Given the description of an element on the screen output the (x, y) to click on. 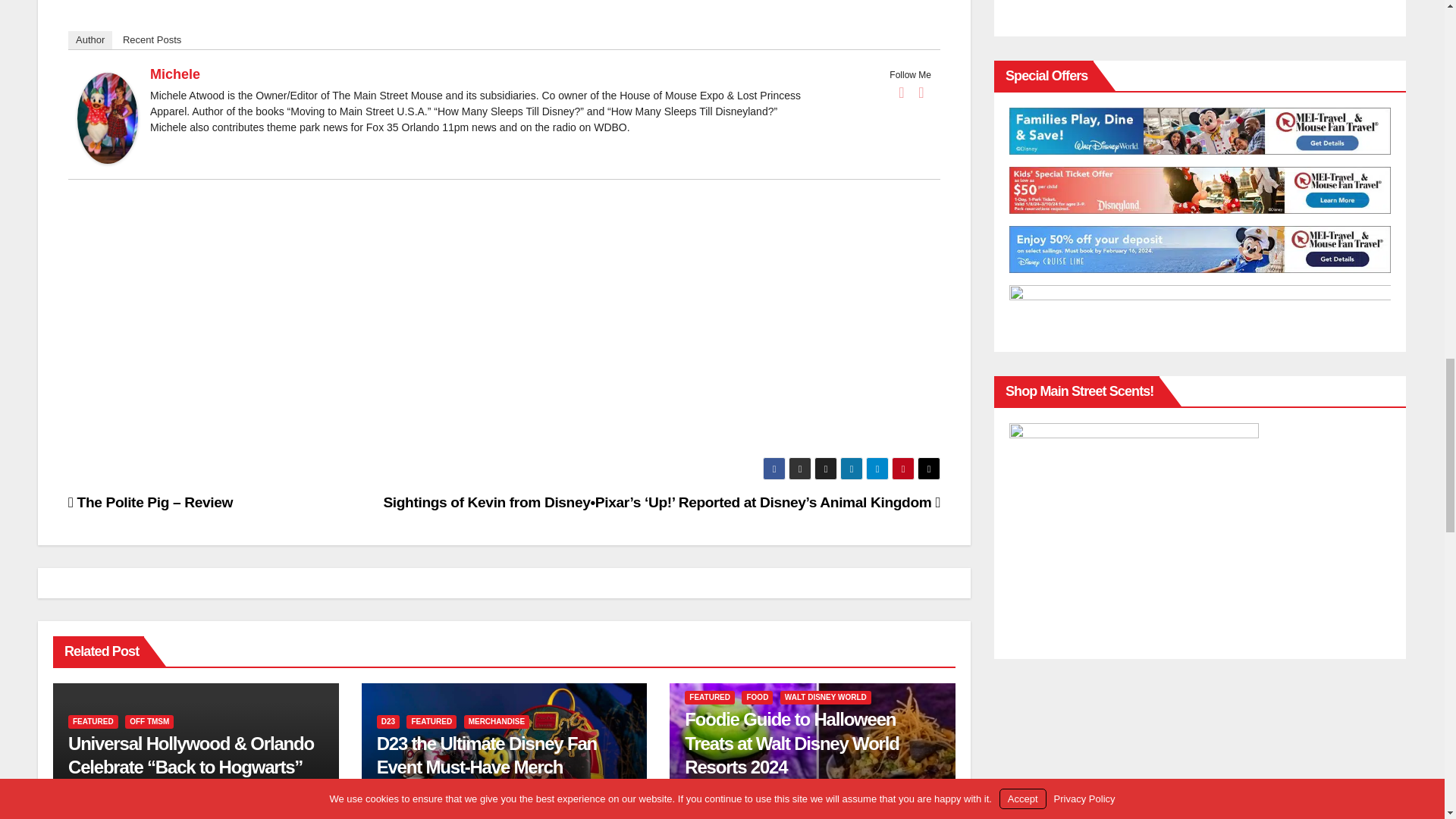
Author (90, 40)
Recent Posts (152, 40)
